Given the description of an element on the screen output the (x, y) to click on. 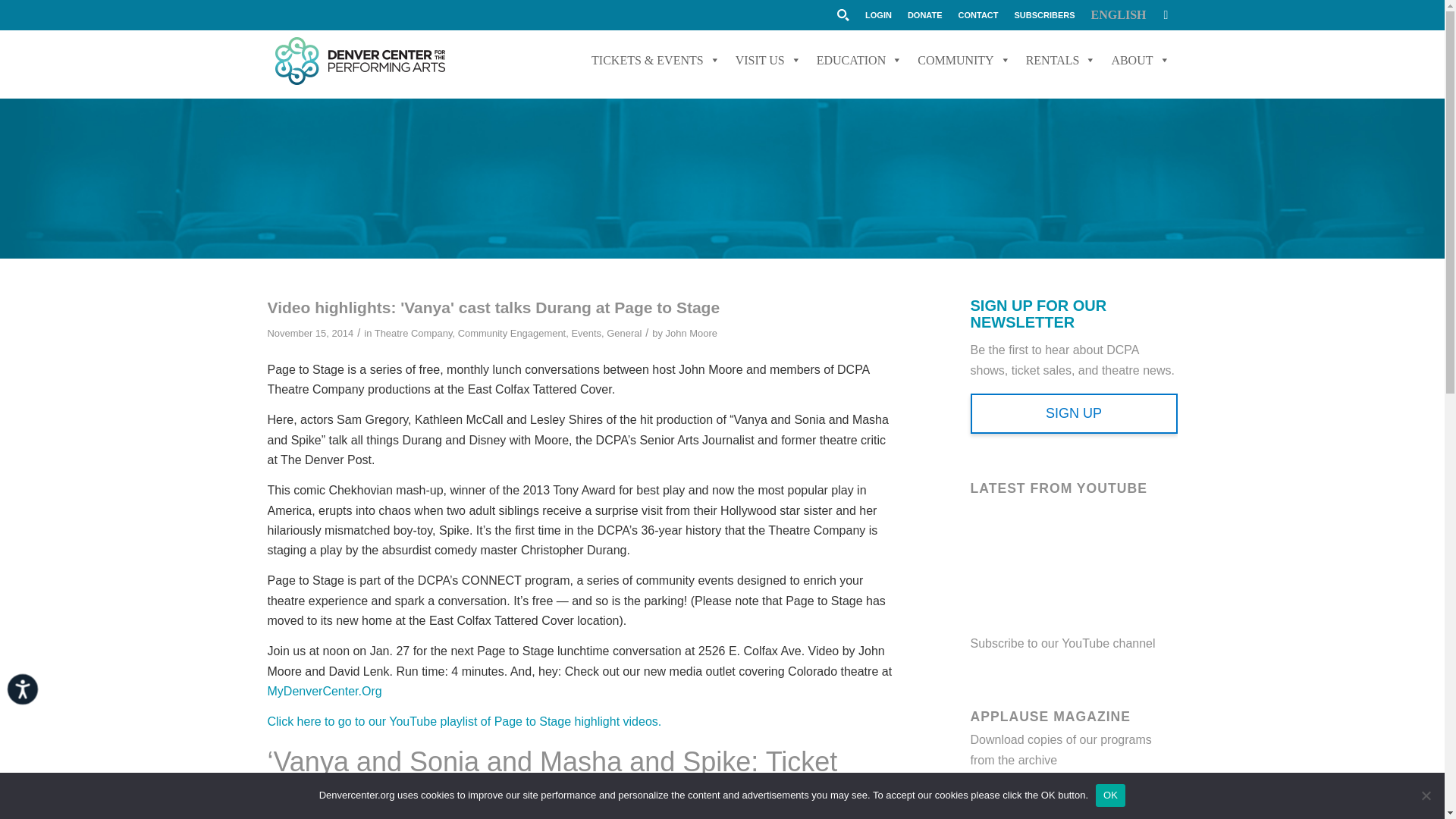
ENGLISH (1118, 14)
SKIP TO MAIN (631, 3)
CONTACT (978, 14)
LOGIN (877, 14)
SUBSCRIBERS (1044, 14)
Cart (1165, 14)
Posts by John Moore (691, 333)
No (1425, 795)
DONATE (924, 14)
Accessibility (39, 705)
